Given the description of an element on the screen output the (x, y) to click on. 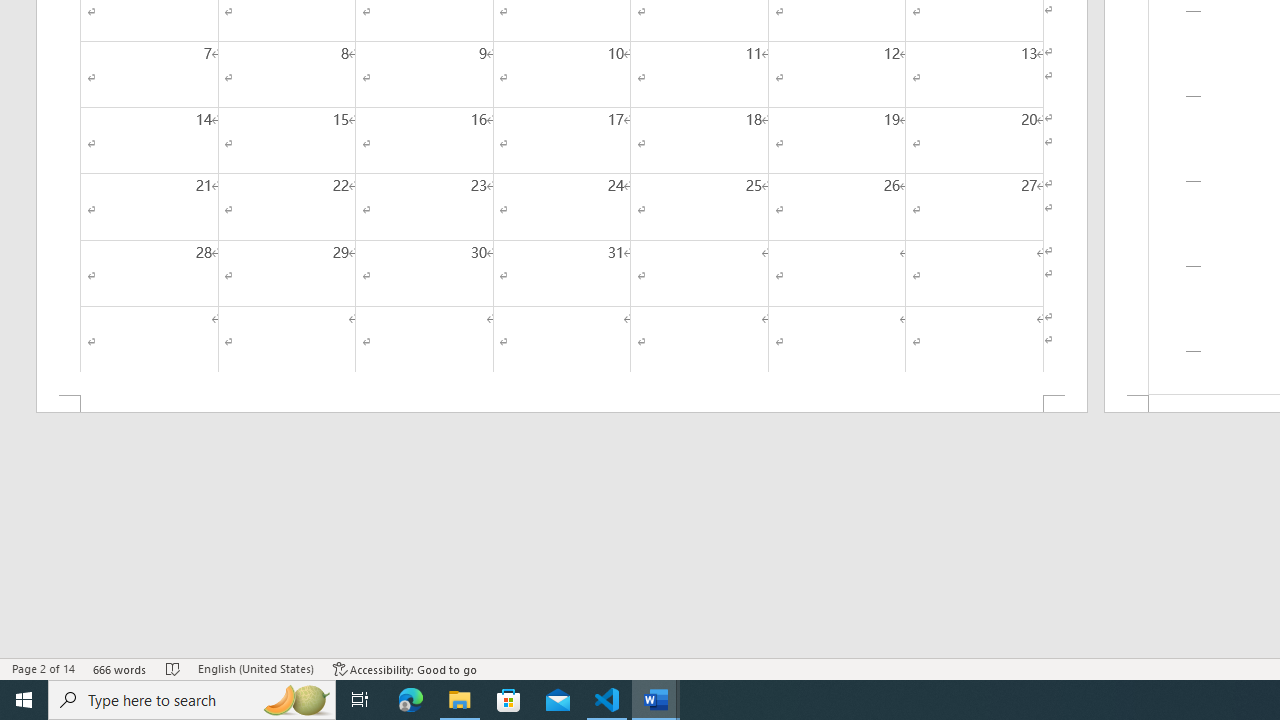
Page Number Page 2 of 14 (43, 668)
Word Count 666 words (119, 668)
Spelling and Grammar Check No Errors (173, 668)
